Given the description of an element on the screen output the (x, y) to click on. 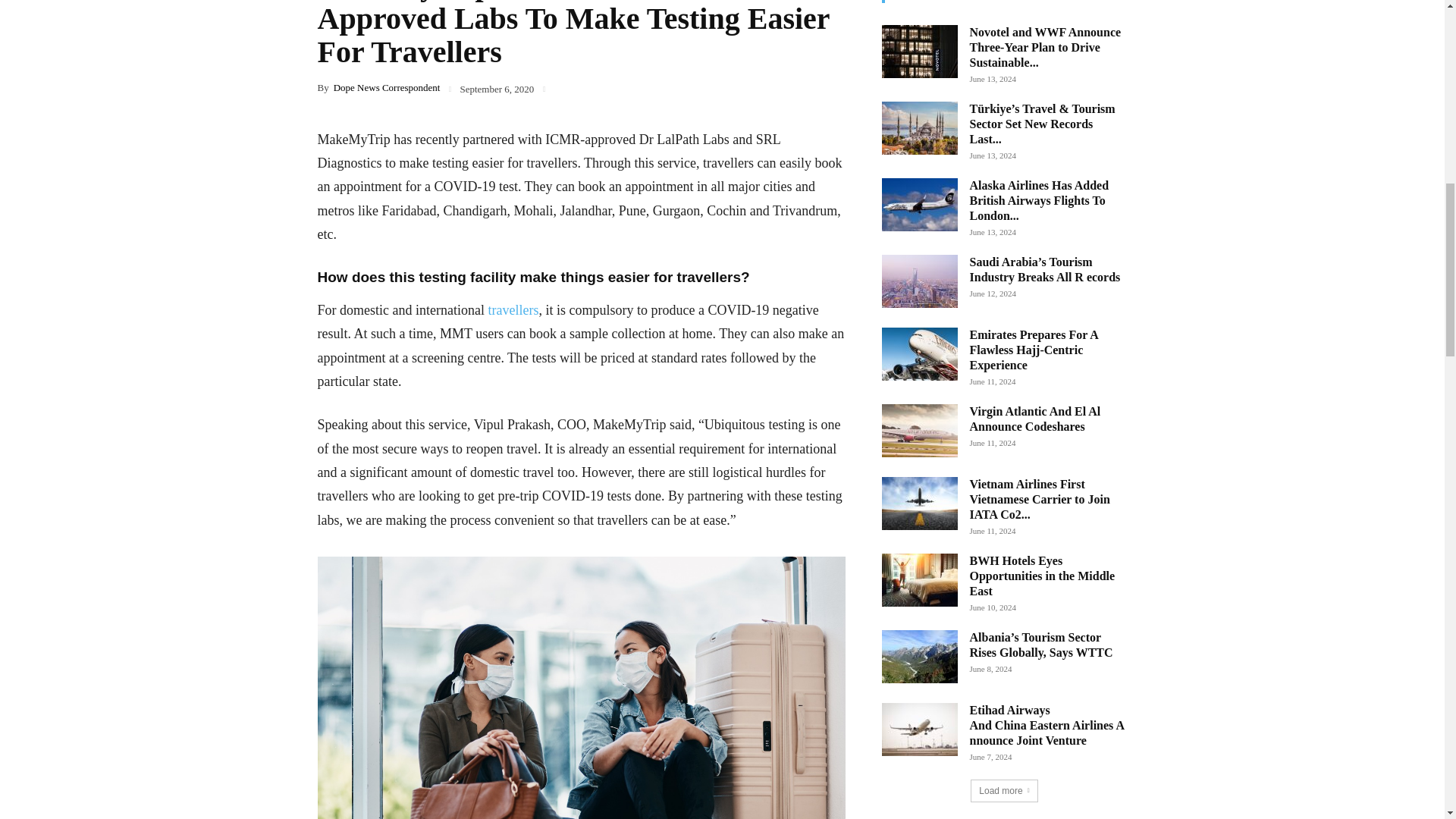
Dope News Correspondent (387, 87)
travellers (512, 309)
